Given the description of an element on the screen output the (x, y) to click on. 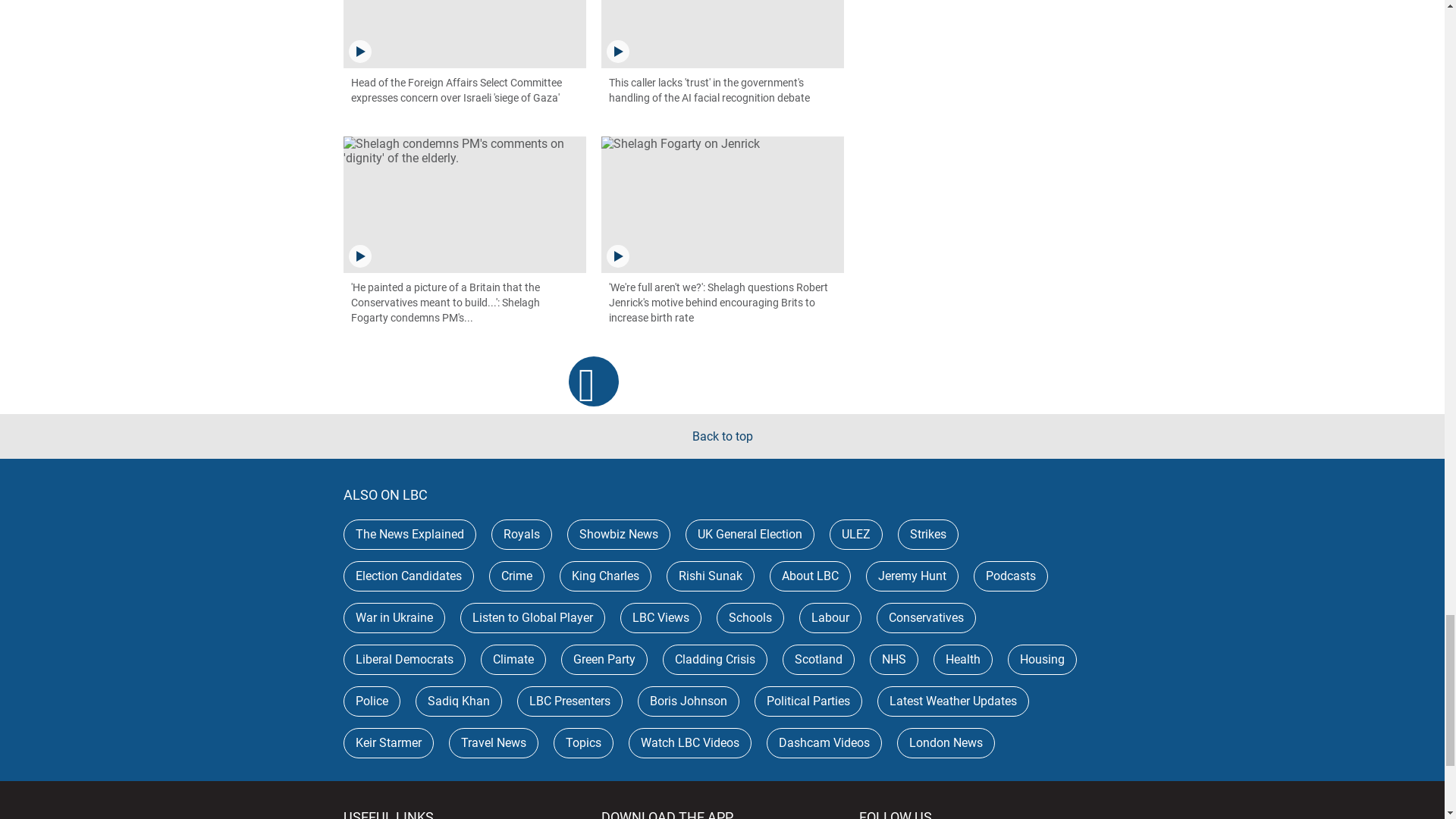
Back to top (721, 436)
View More (593, 381)
